Given the description of an element on the screen output the (x, y) to click on. 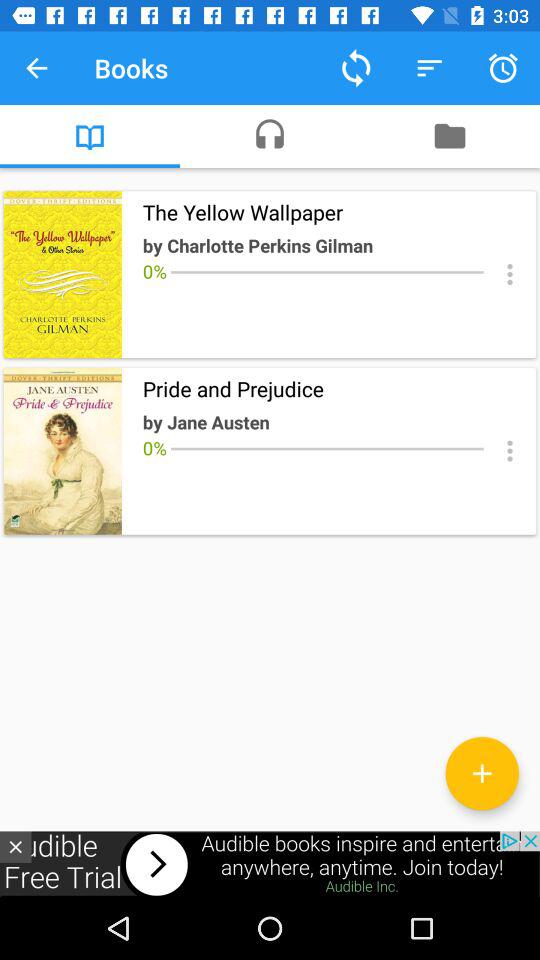
close advertisement (15, 846)
